Given the description of an element on the screen output the (x, y) to click on. 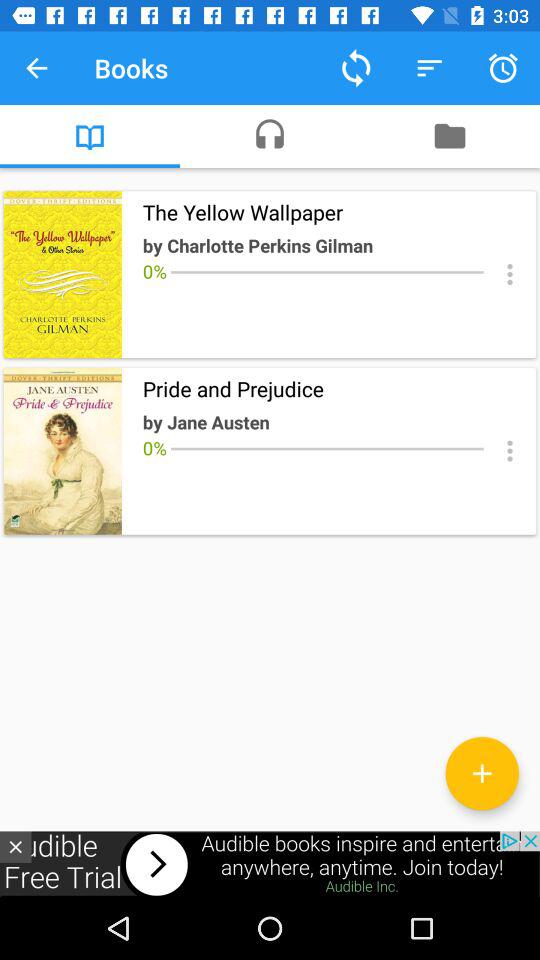
close advertisement (15, 846)
